Given the description of an element on the screen output the (x, y) to click on. 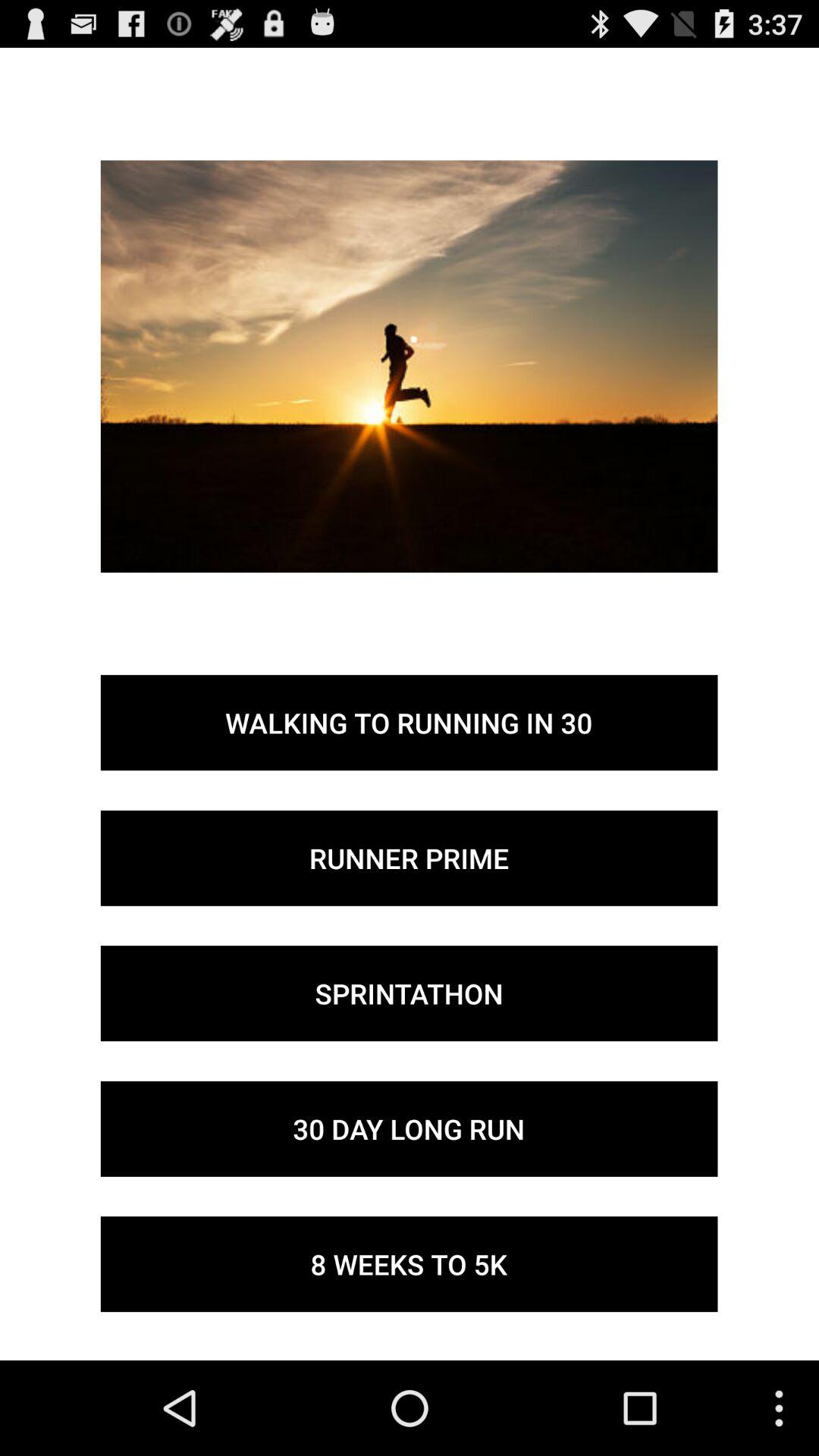
turn off sprintathon item (408, 993)
